Given the description of an element on the screen output the (x, y) to click on. 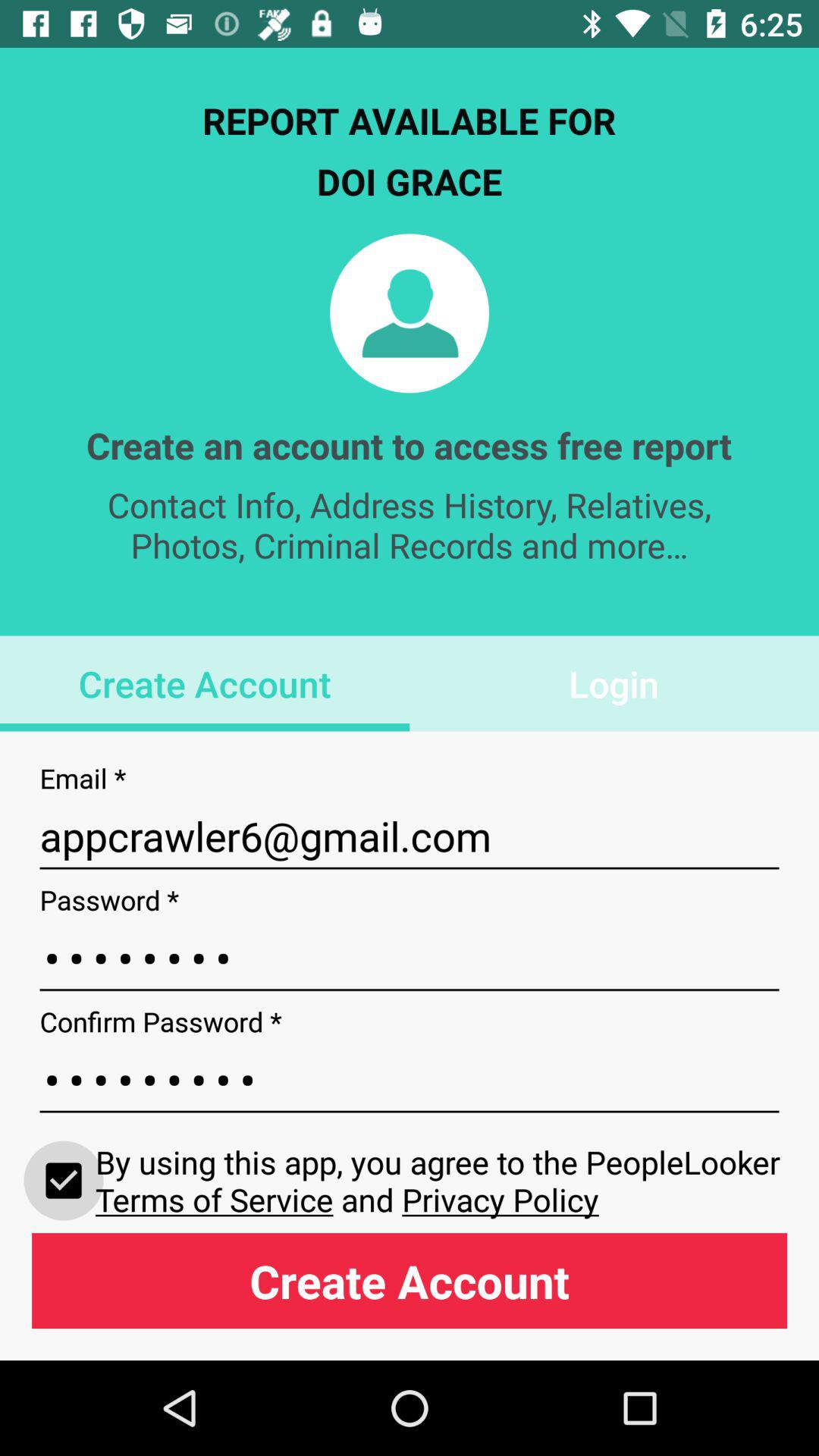
select item above create account (63, 1180)
